Given the description of an element on the screen output the (x, y) to click on. 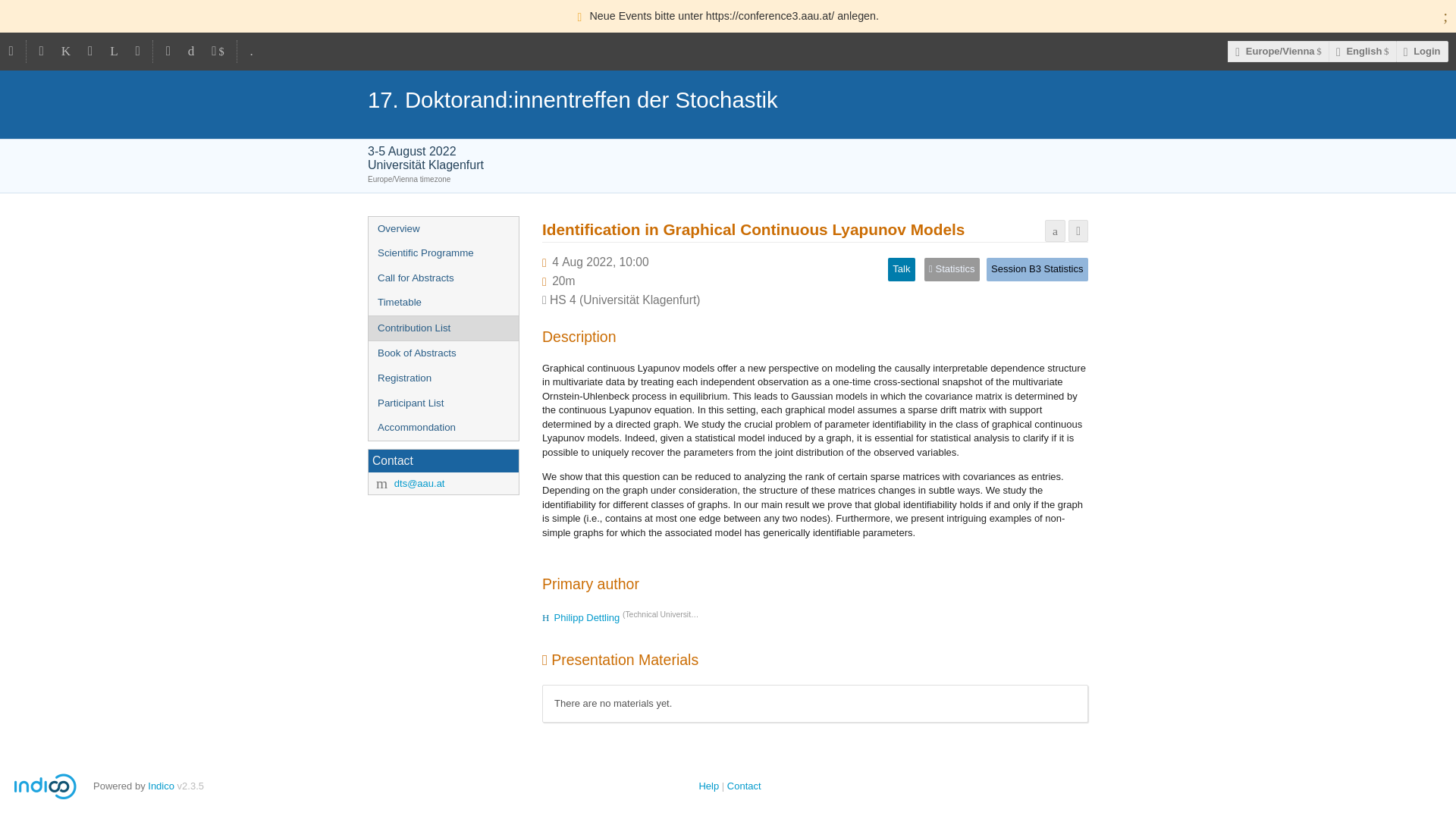
17. Doktorand:innentreffen der Stochastik (727, 99)
Duration (563, 280)
Scientific Programme (443, 253)
Participant List (443, 403)
Registration (443, 378)
Contribution List (443, 328)
Call for Abstracts (443, 278)
Book of Abstracts (443, 353)
Login (1422, 51)
English (1361, 51)
Timetable (443, 302)
Overview (443, 229)
Accommondation (443, 427)
